Given the description of an element on the screen output the (x, y) to click on. 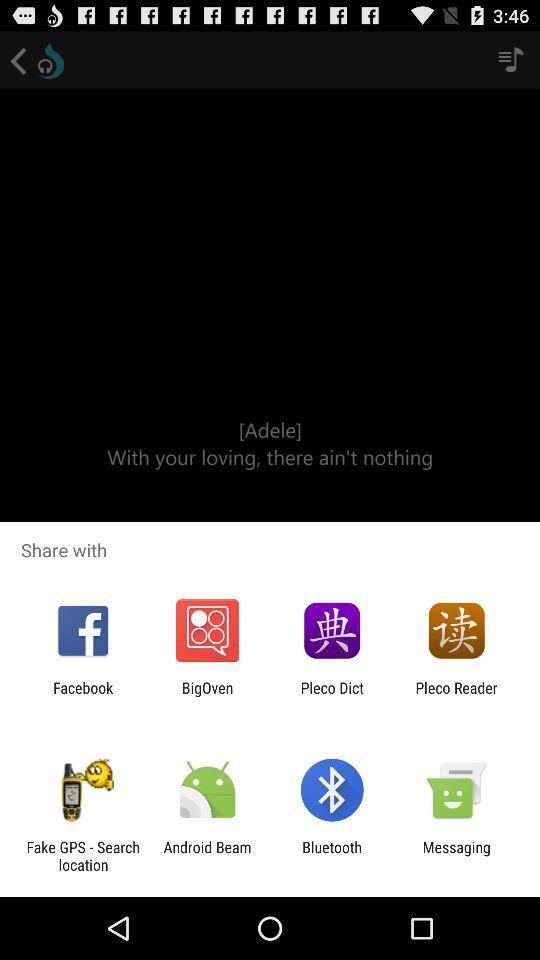
flip until bluetooth icon (331, 856)
